Given the description of an element on the screen output the (x, y) to click on. 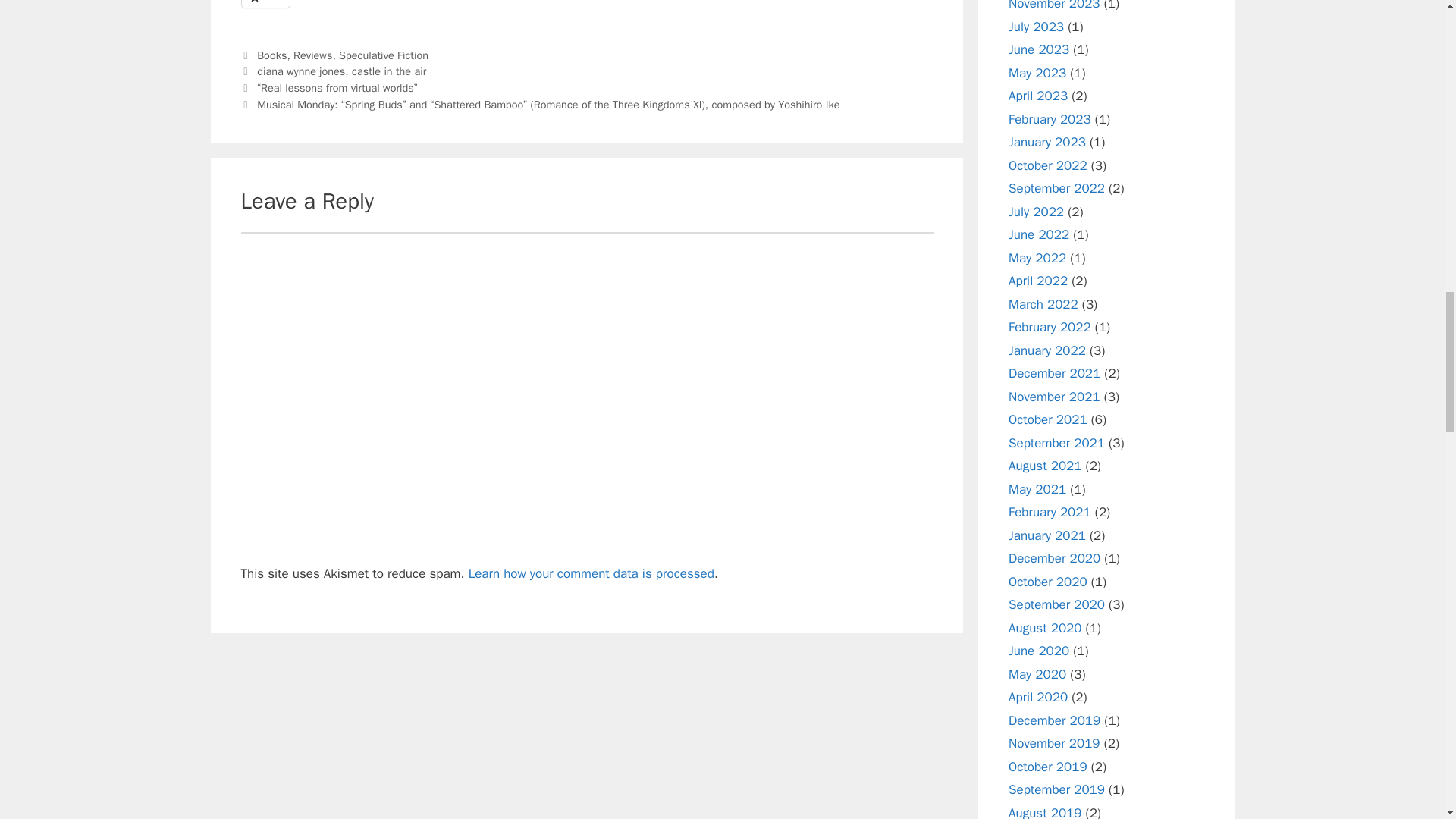
Speculative Fiction (383, 55)
castle in the air (389, 70)
Books (271, 55)
Like or Reblog (587, 12)
diana wynne jones (301, 70)
Reviews (312, 55)
Learn how your comment data is processed (591, 573)
